Given the description of an element on the screen output the (x, y) to click on. 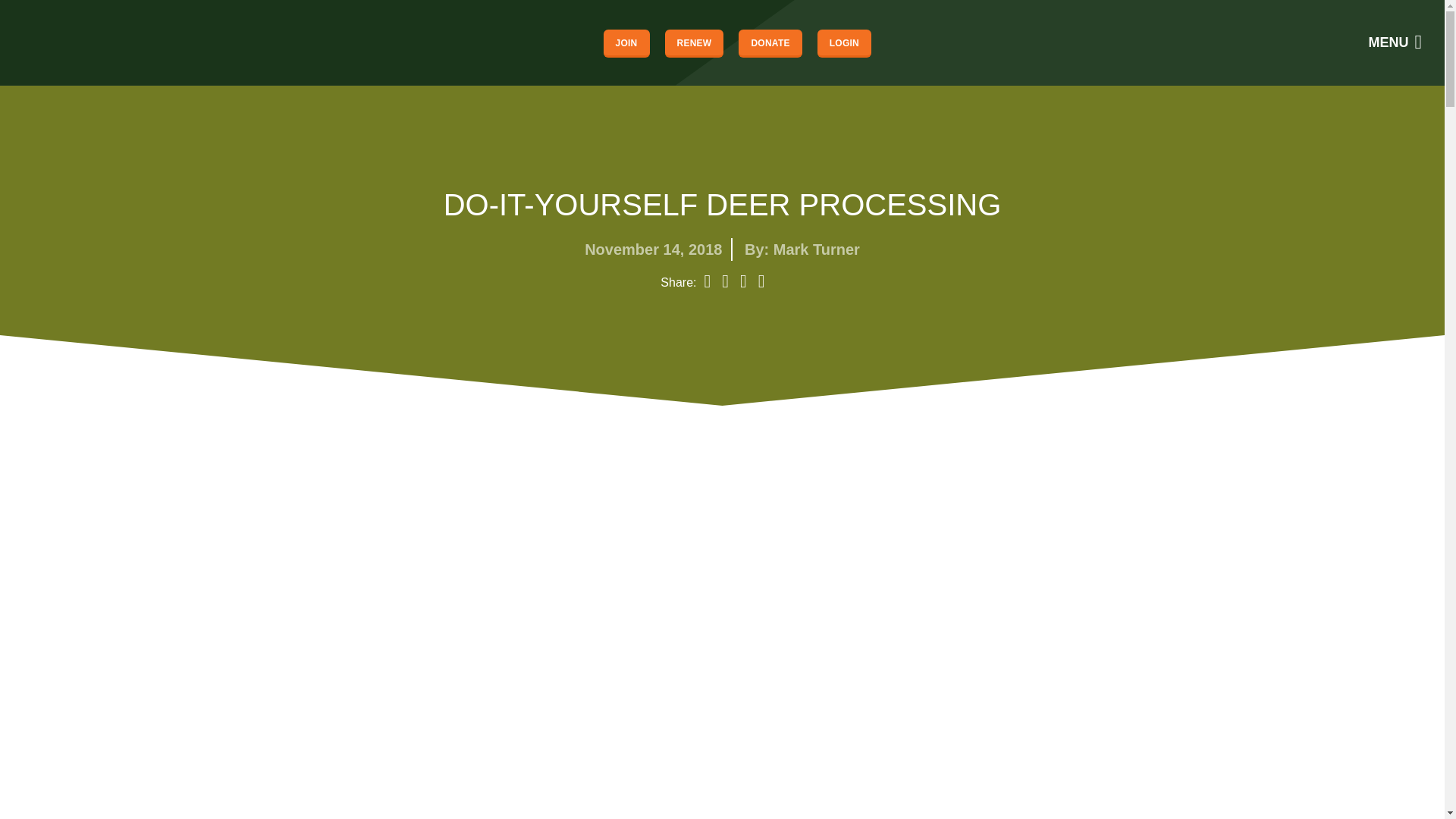
DONATE (770, 43)
JOIN (626, 43)
RENEW (694, 43)
NDA Logo White (63, 42)
LOGIN (843, 43)
